Given the description of an element on the screen output the (x, y) to click on. 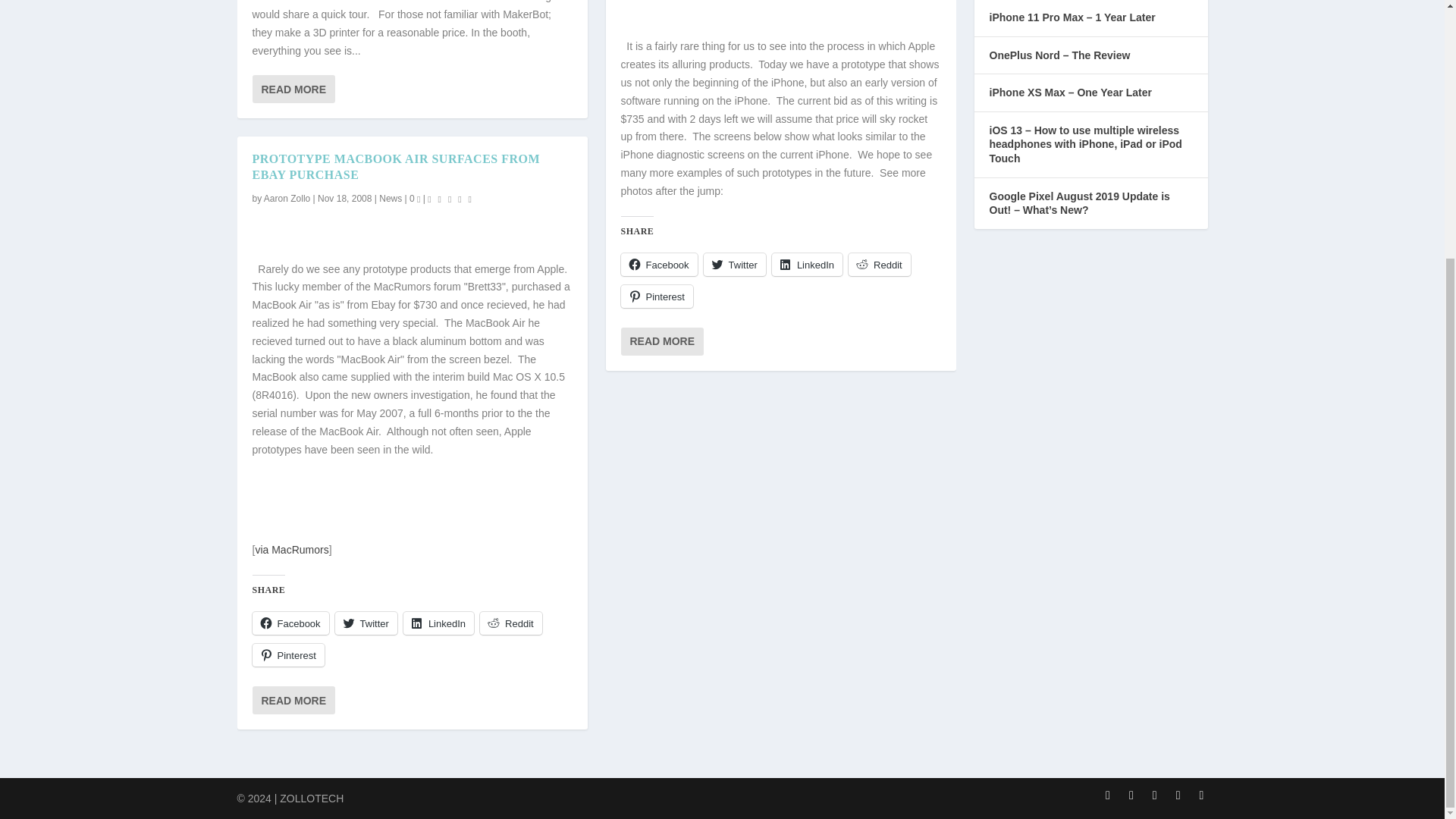
Click to share on Twitter (365, 622)
0 (414, 198)
PROTOTYPE MACBOOK AIR SURFACES FROM EBAY PURCHASE (395, 166)
Click to share on LinkedIn (438, 622)
Rating: 0.00 (452, 198)
News (389, 198)
Click to share on Pinterest (287, 654)
via MacRumors (291, 549)
Posts by Aaron Zollo (286, 198)
Click to share on Facebook (290, 622)
